Given the description of an element on the screen output the (x, y) to click on. 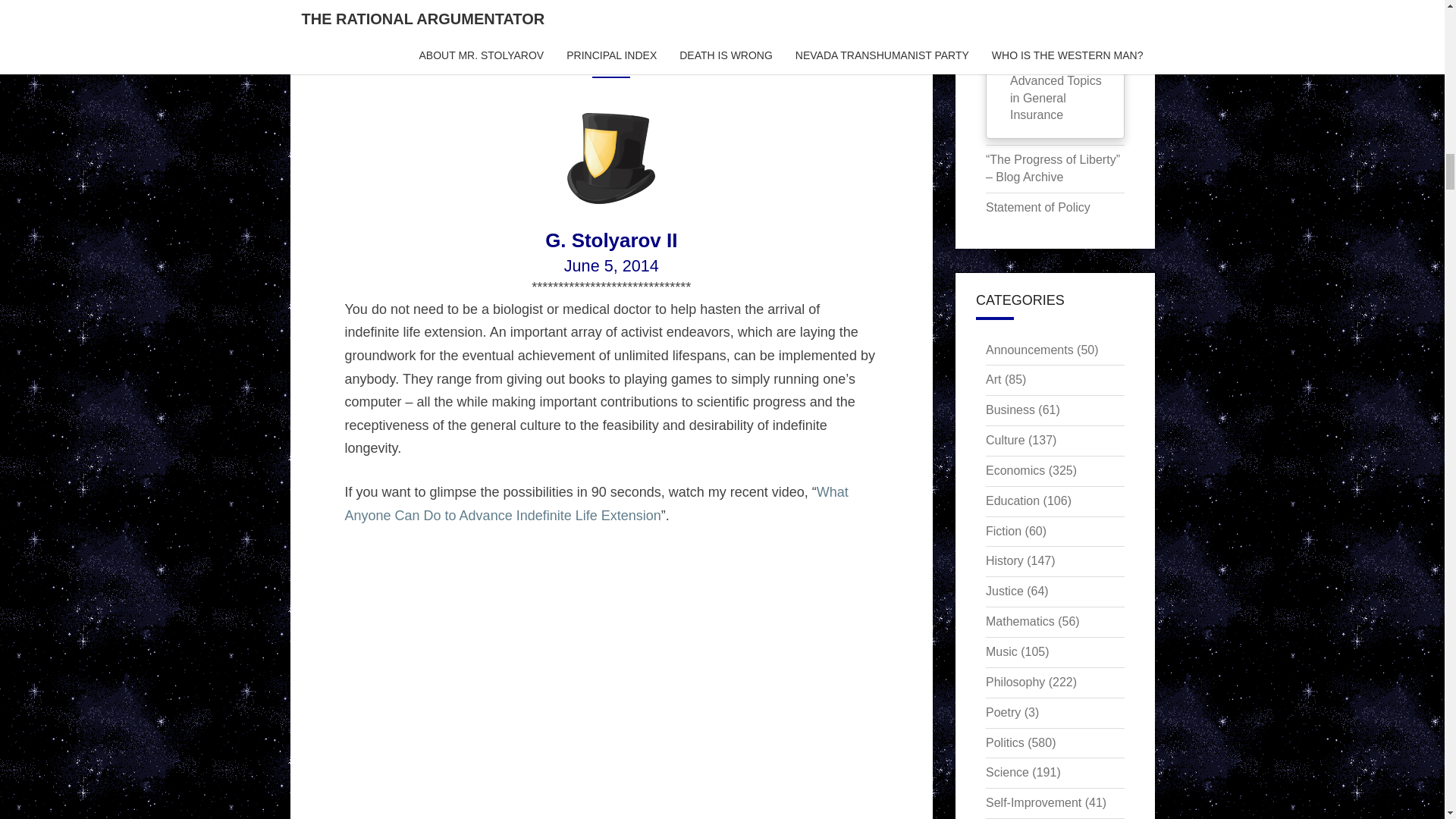
Gennady Stolyarov II (622, 59)
4:12 AM (505, 59)
View all posts by Gennady Stolyarov II (622, 59)
June 6, 2014 (505, 59)
0 Comment (734, 59)
What Anyone Can Do to Advance Indefinite Life Extension (595, 503)
